Given the description of an element on the screen output the (x, y) to click on. 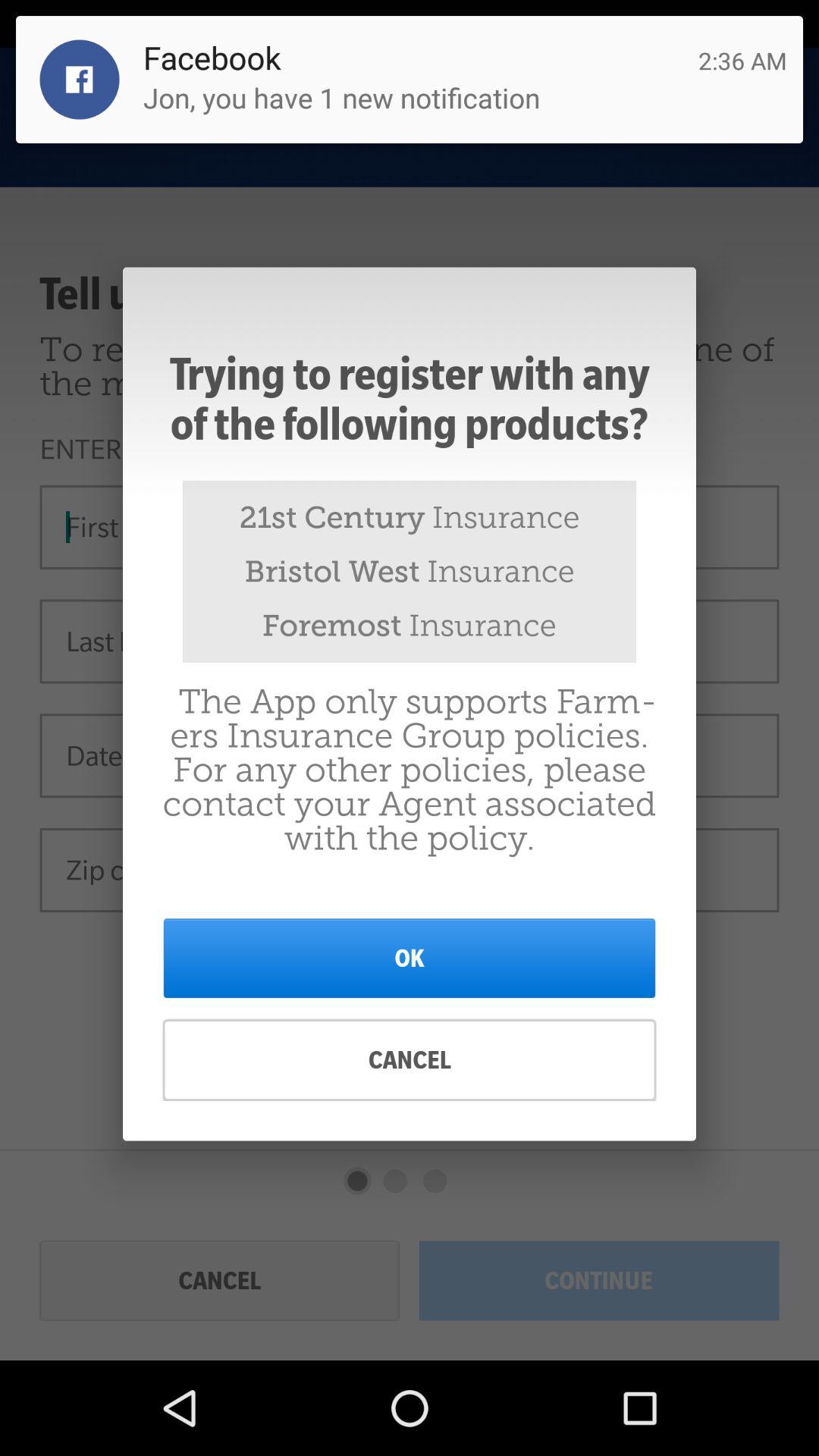
flip to the ok item (409, 958)
